Given the description of an element on the screen output the (x, y) to click on. 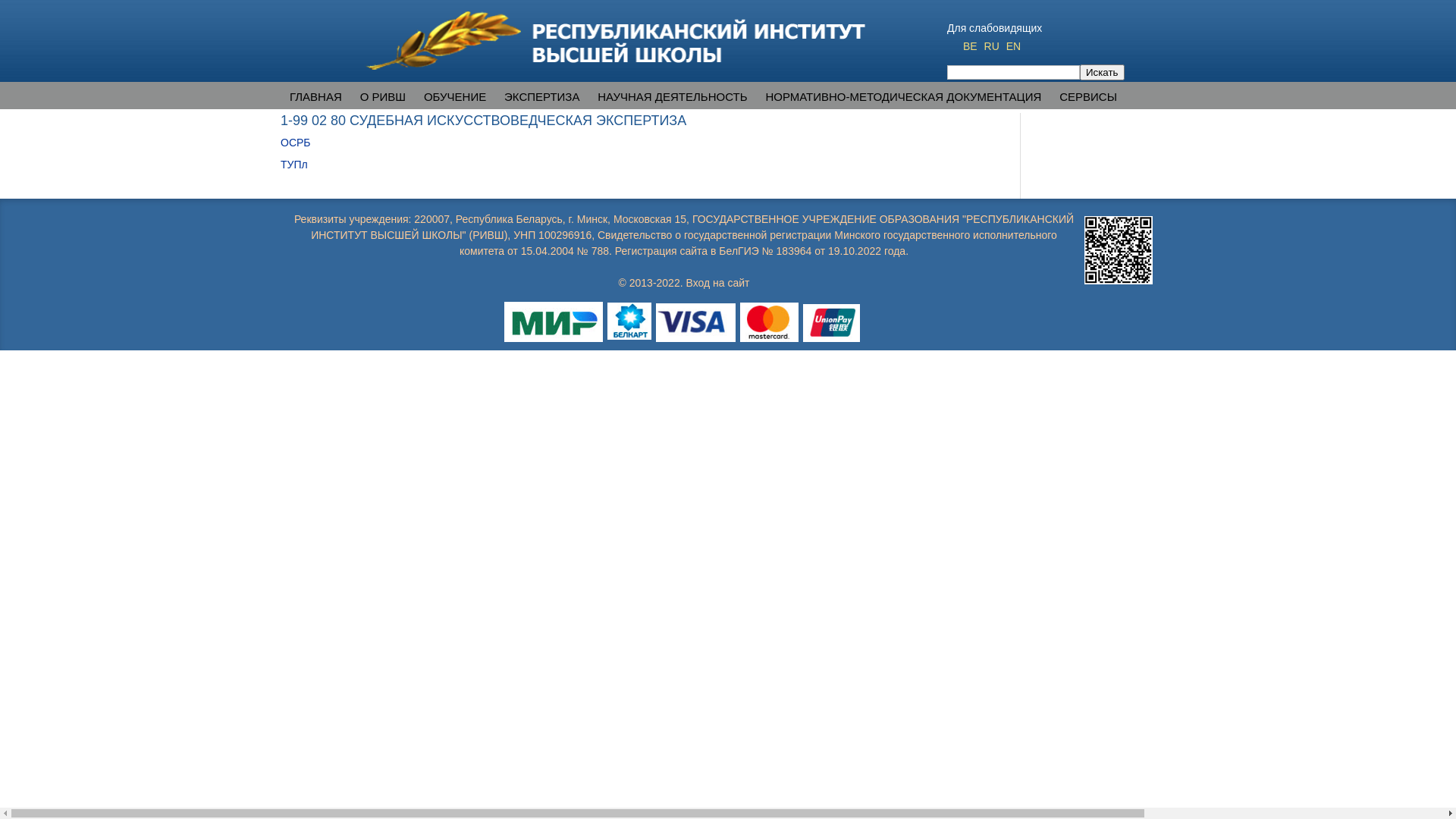
EN Element type: text (1013, 46)
RU Element type: text (993, 46)
BE Element type: text (971, 46)
